Given the description of an element on the screen output the (x, y) to click on. 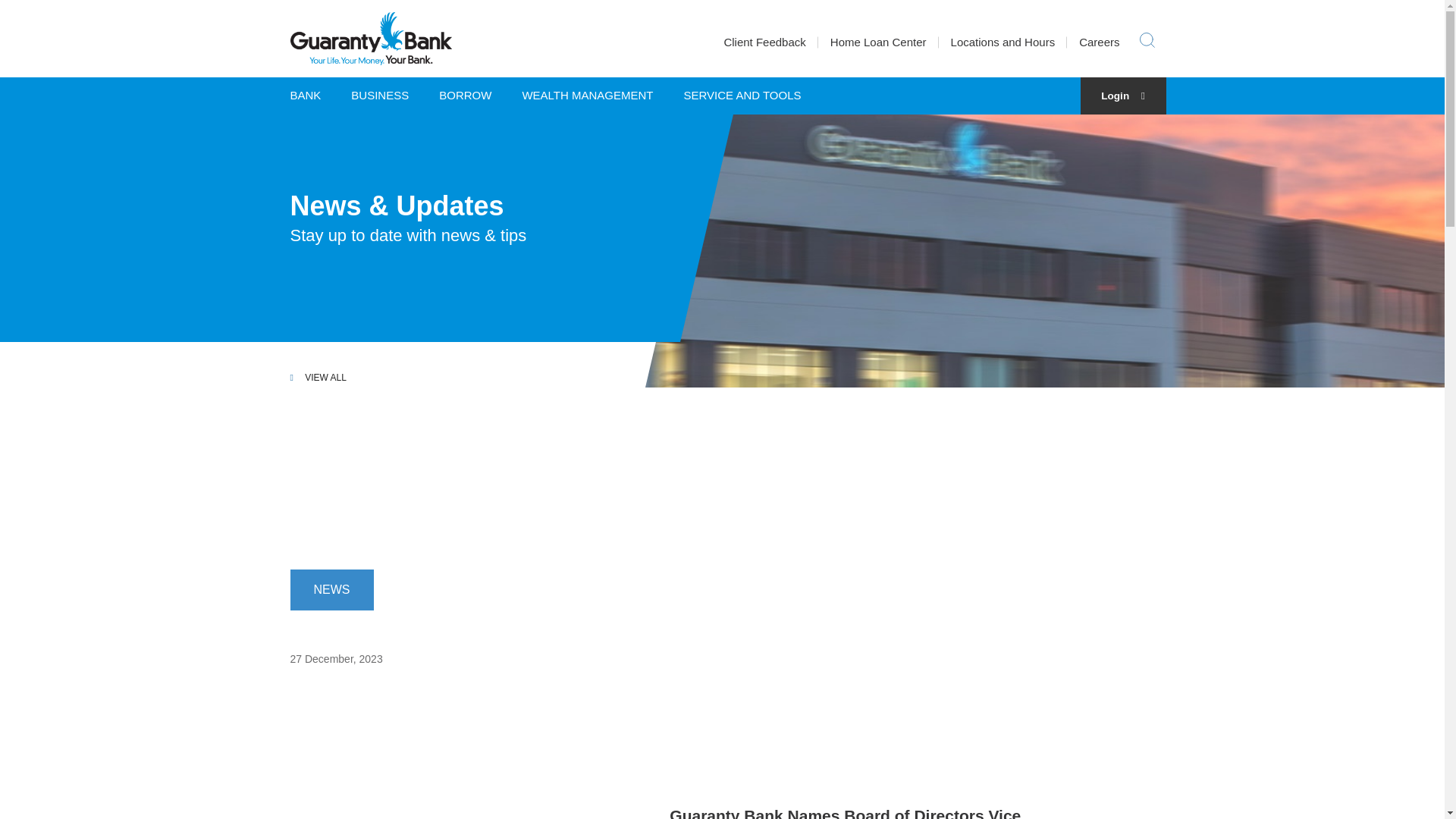
BANK (312, 95)
Guaranty Bank (370, 38)
Careers (1098, 42)
Locations and Hours (1002, 42)
Home Loan Center (877, 42)
BUSINESS (379, 95)
Client Feedback (764, 42)
